Given the description of an element on the screen output the (x, y) to click on. 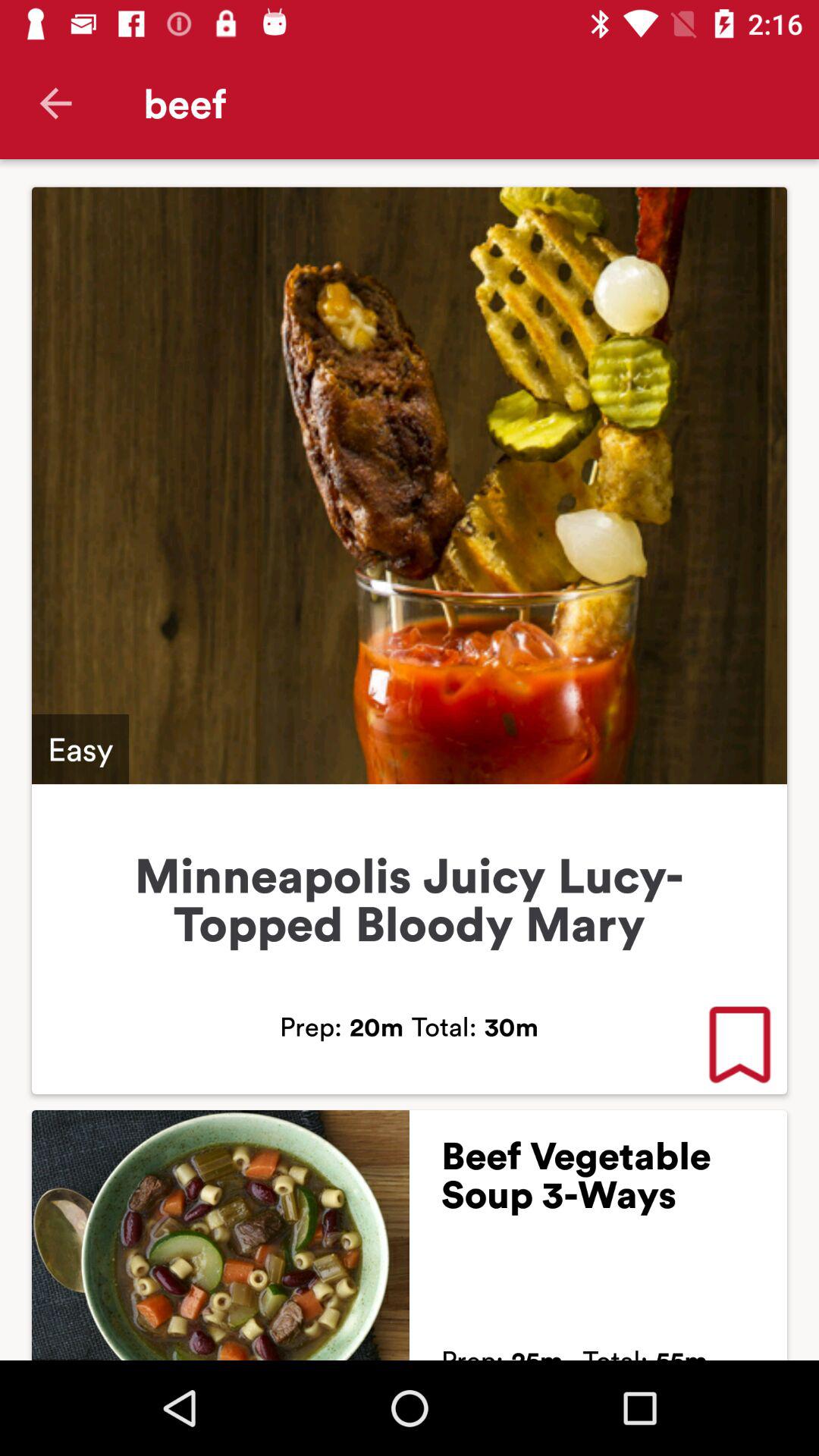
open the icon to the right of 30m icon (739, 1046)
